Given the description of an element on the screen output the (x, y) to click on. 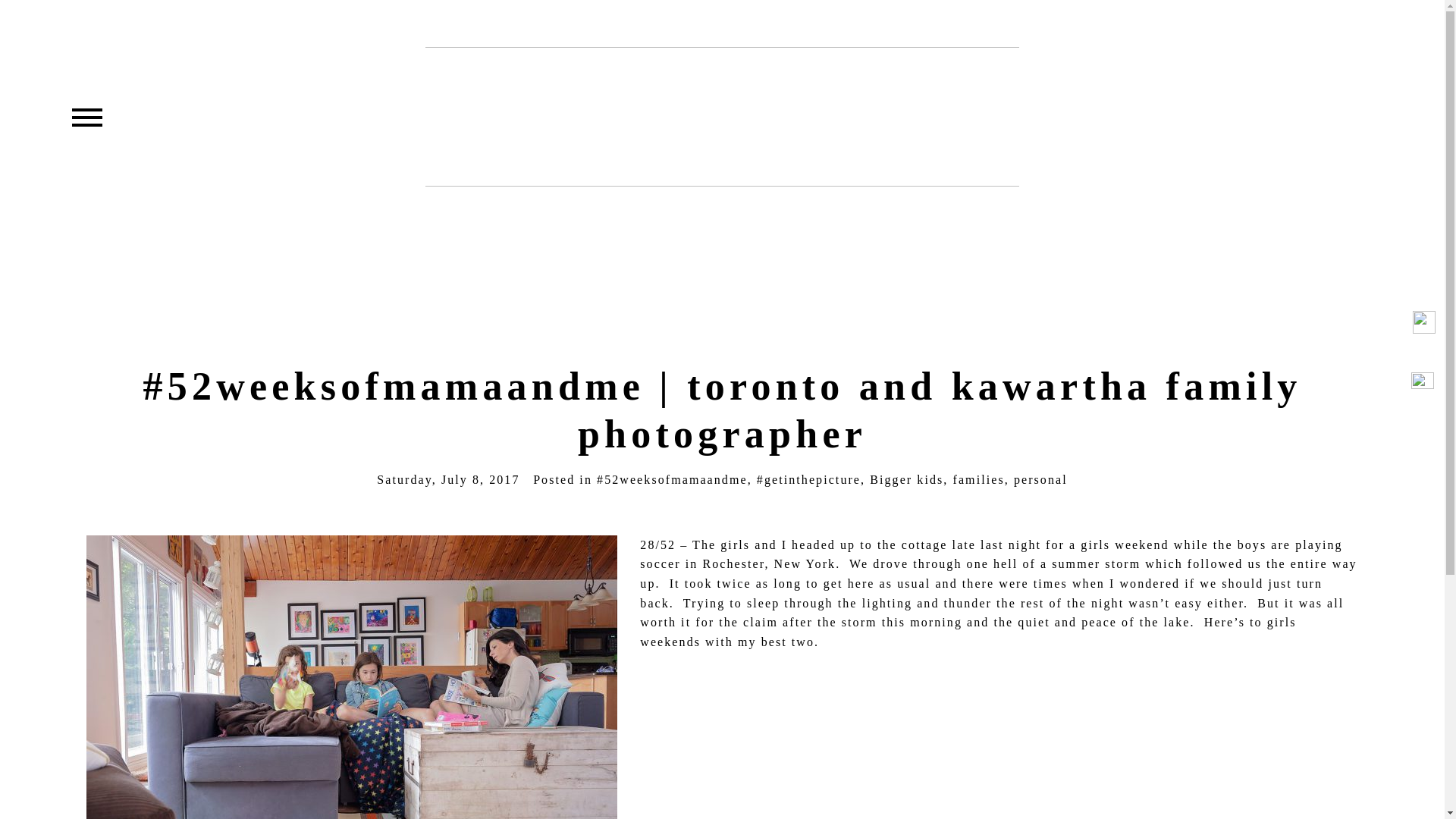
Bigger kids (906, 479)
personal (1040, 479)
families (978, 479)
